Given the description of an element on the screen output the (x, y) to click on. 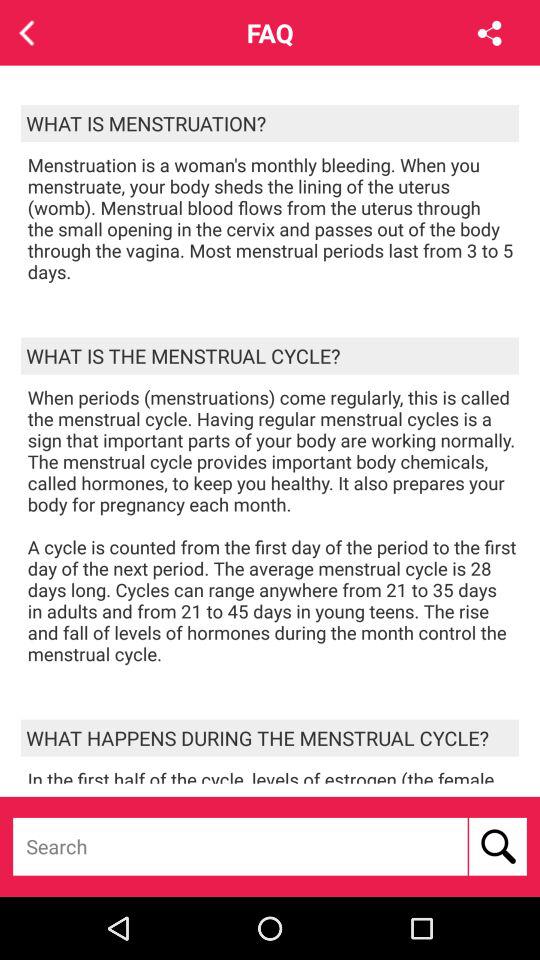
turn on the app below the what is the app (273, 525)
